Given the description of an element on the screen output the (x, y) to click on. 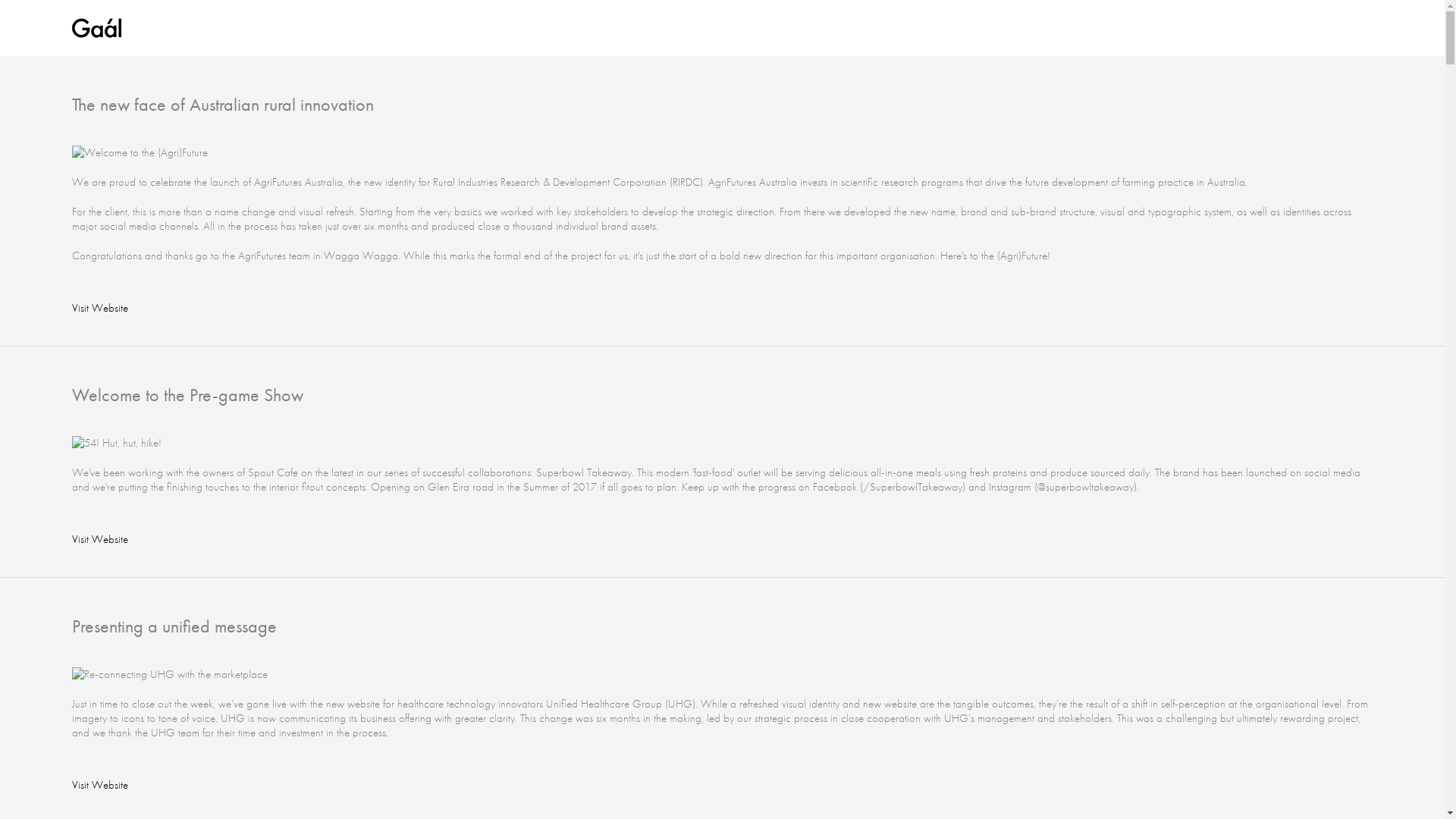
Re-connecting UHG with the marketplace Element type: hover (169, 674)
Welcome to the (Agri)Future Element type: hover (139, 152)
Visit Website Element type: text (100, 307)
Visit Website Element type: text (100, 538)
54! Hut, hut, hike! Element type: hover (116, 443)
Visit Website Element type: text (100, 784)
